Given the description of an element on the screen output the (x, y) to click on. 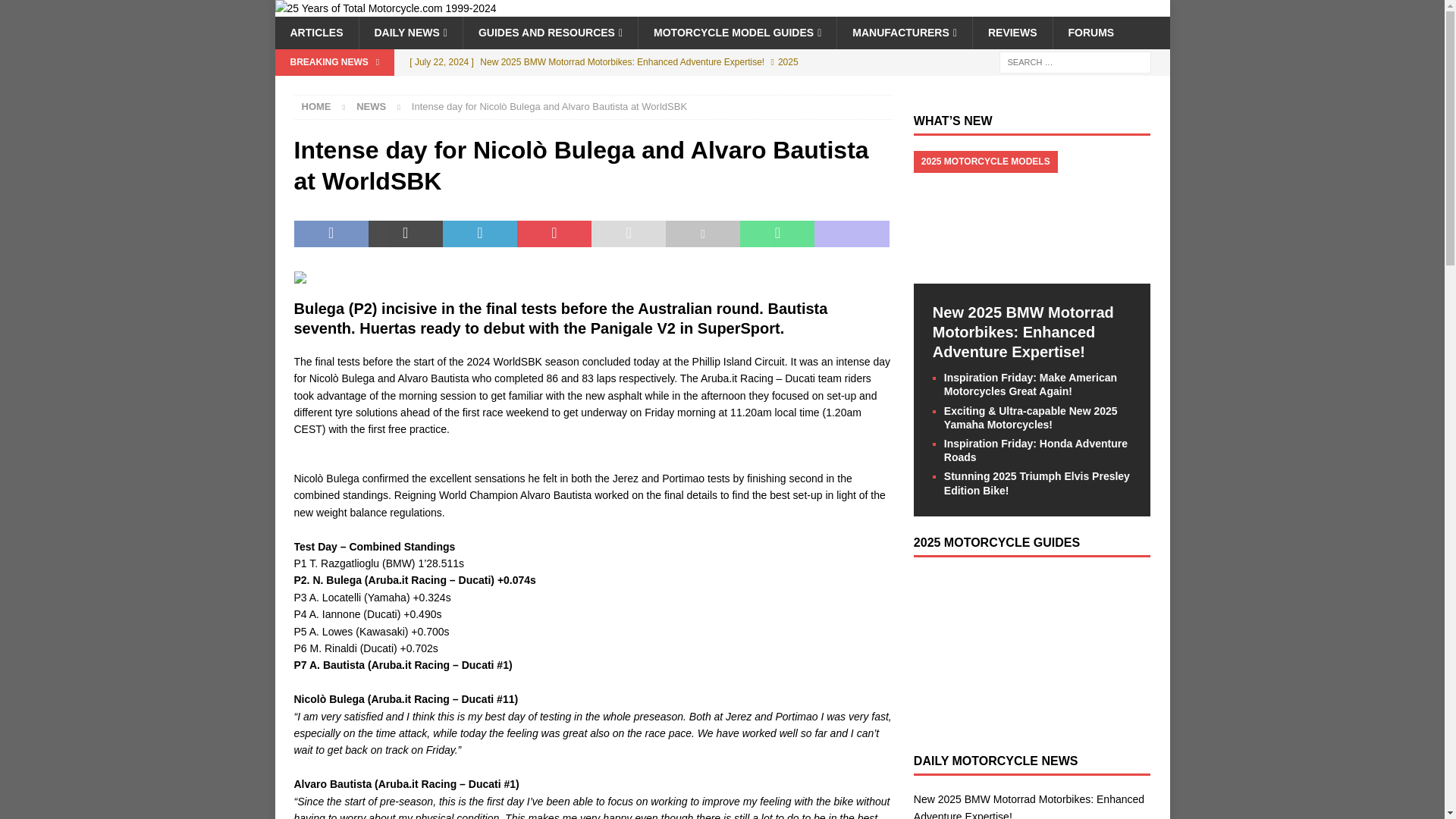
News (370, 106)
MOTORCYCLE MODEL GUIDES (736, 32)
GUIDES AND RESOURCES (550, 32)
Home (316, 106)
DAILY NEWS (409, 32)
ARTICLES (316, 32)
